Given the description of an element on the screen output the (x, y) to click on. 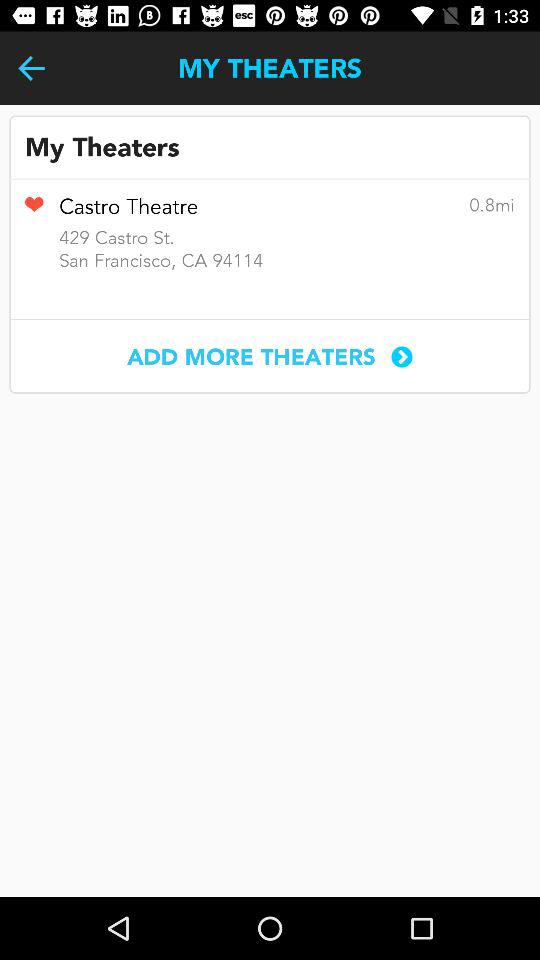
click item to the left of the my theaters icon (31, 67)
